Given the description of an element on the screen output the (x, y) to click on. 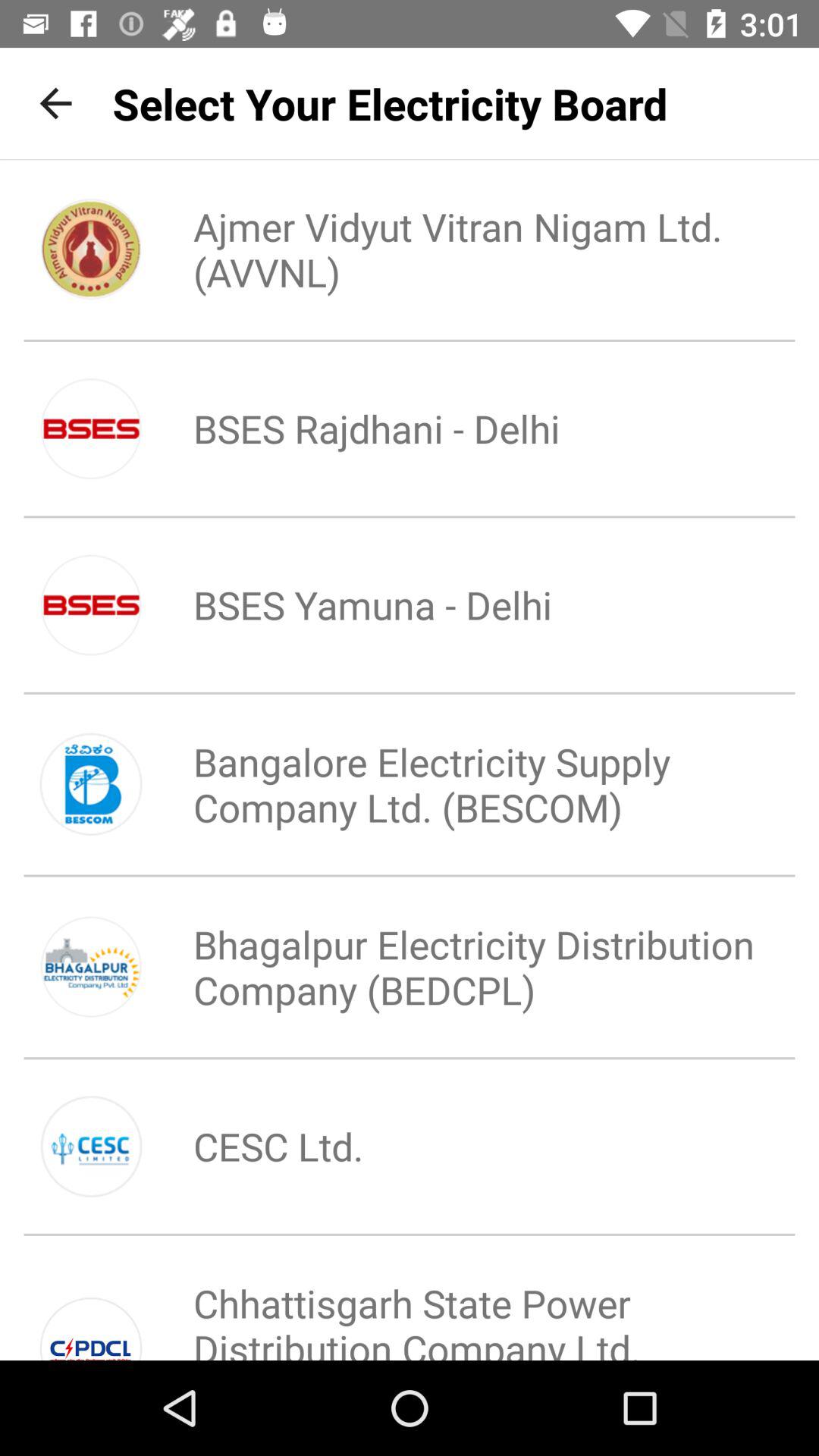
choose icon below bhagalpur electricity distribution item (252, 1145)
